Given the description of an element on the screen output the (x, y) to click on. 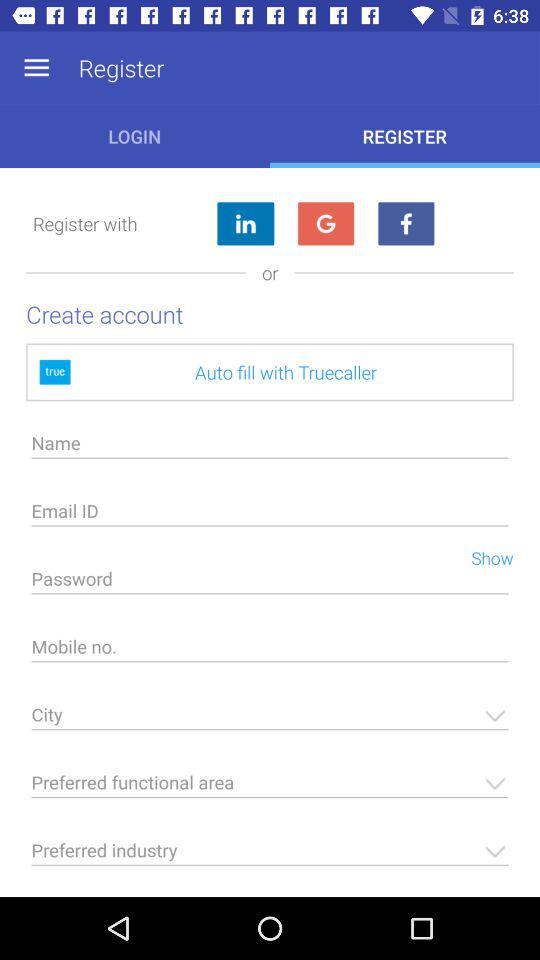
phone number input (269, 652)
